Given the description of an element on the screen output the (x, y) to click on. 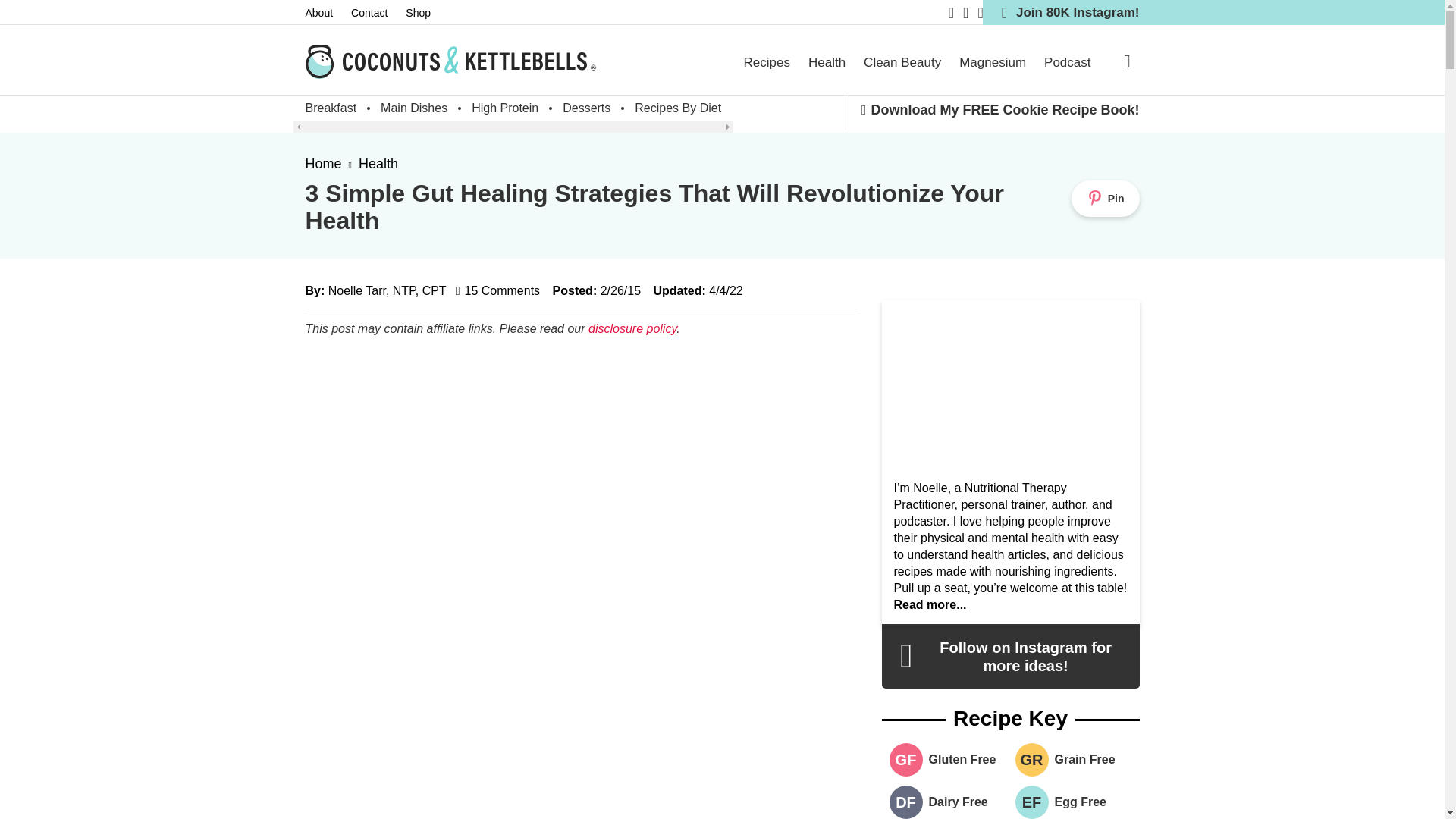
Join 80K Instagram! (1061, 12)
Save to Pinterest (1105, 198)
Contact (378, 12)
Recipes (767, 62)
About (327, 12)
Health (826, 62)
Shop (427, 12)
